Given the description of an element on the screen output the (x, y) to click on. 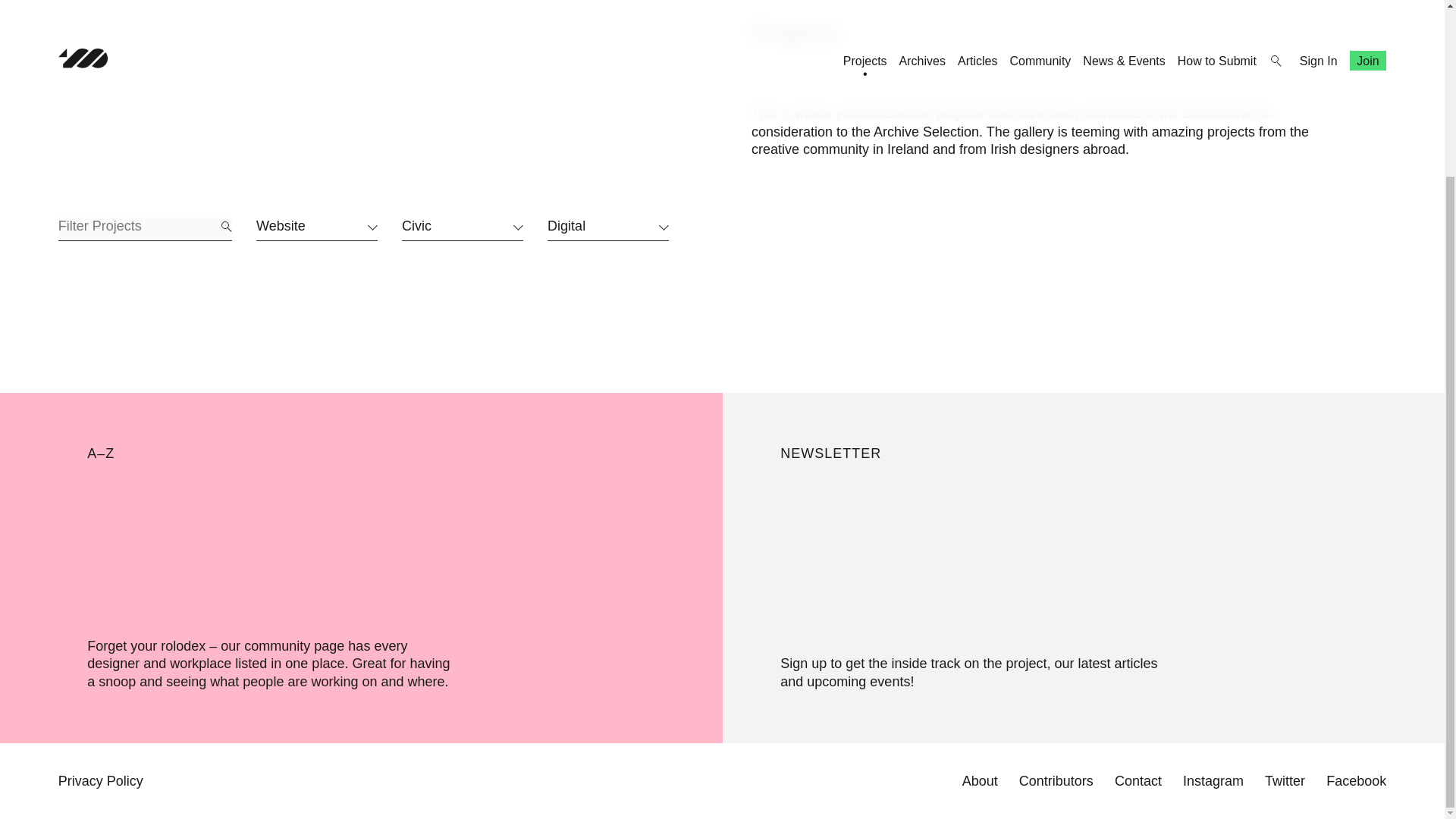
Civic (461, 228)
Website (316, 228)
